Given the description of an element on the screen output the (x, y) to click on. 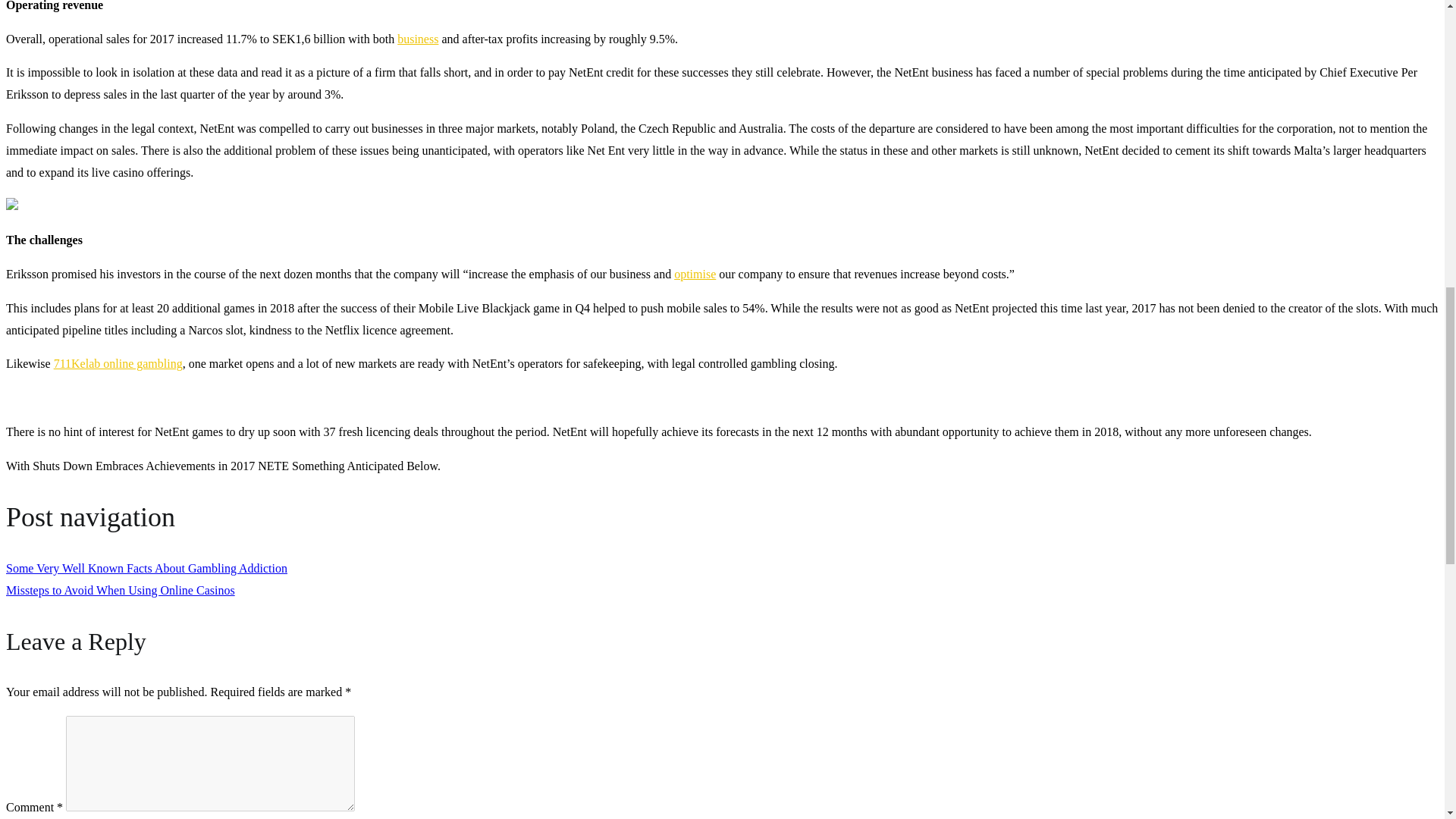
business (417, 38)
optimise (695, 273)
711Kelab online gambling (118, 363)
Some Very Well Known Facts About Gambling Addiction (145, 567)
Missteps to Avoid When Using Online Casinos (119, 590)
